Given the description of an element on the screen output the (x, y) to click on. 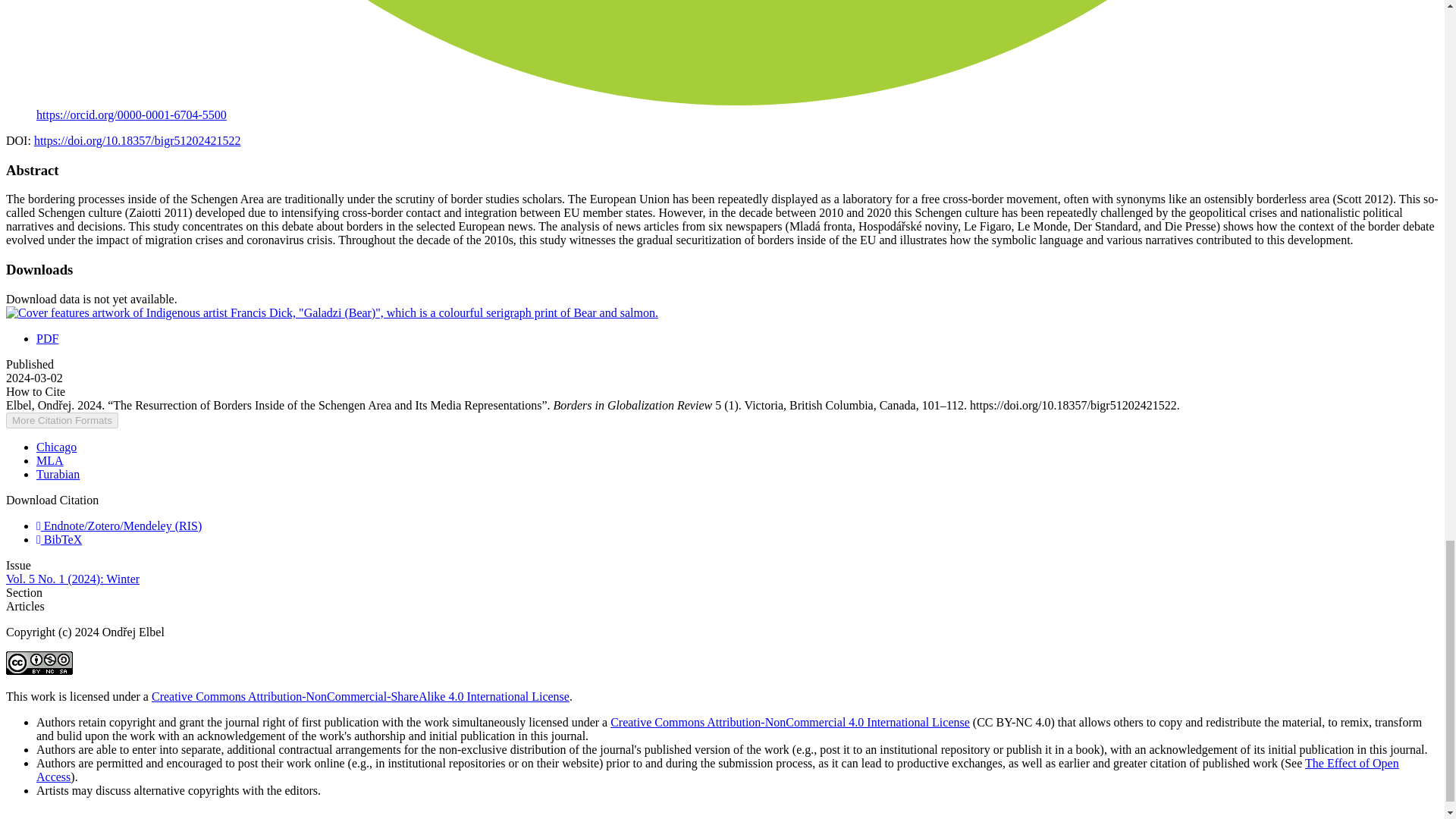
BibTeX (58, 539)
The Effect of Open Access (717, 769)
Turabian (58, 473)
More Citation Formats (61, 420)
Chicago (56, 446)
MLA (50, 460)
PDF (47, 338)
